Given the description of an element on the screen output the (x, y) to click on. 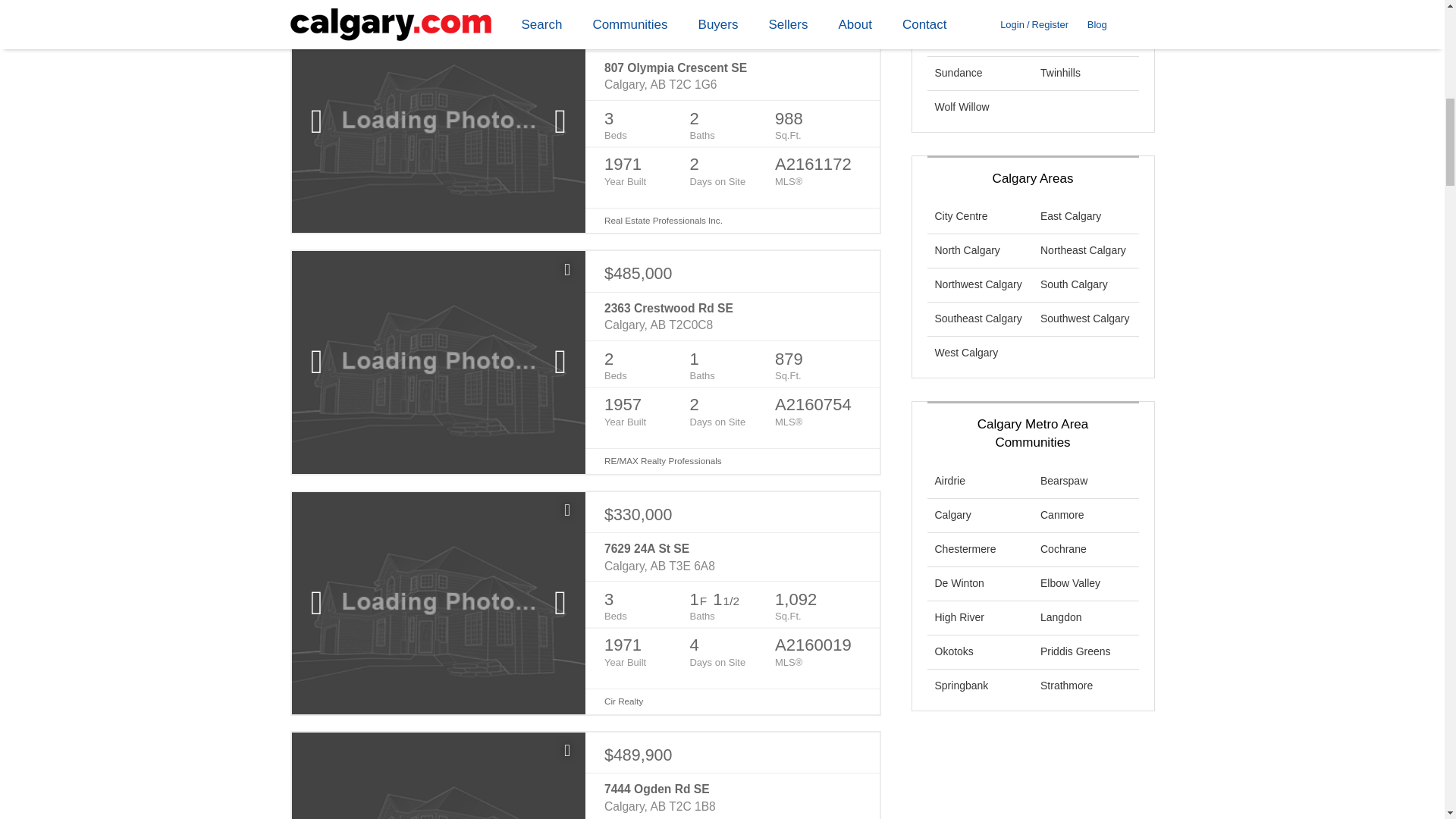
7629 24A St SE Calgary,  AB T3E 6A8 (732, 557)
2363 Crestwood Rd SE Calgary,  AB T2C0C8 (732, 317)
807 Olympia Crescent SE Calgary,  AB T2C 1G6 (732, 76)
